Given the description of an element on the screen output the (x, y) to click on. 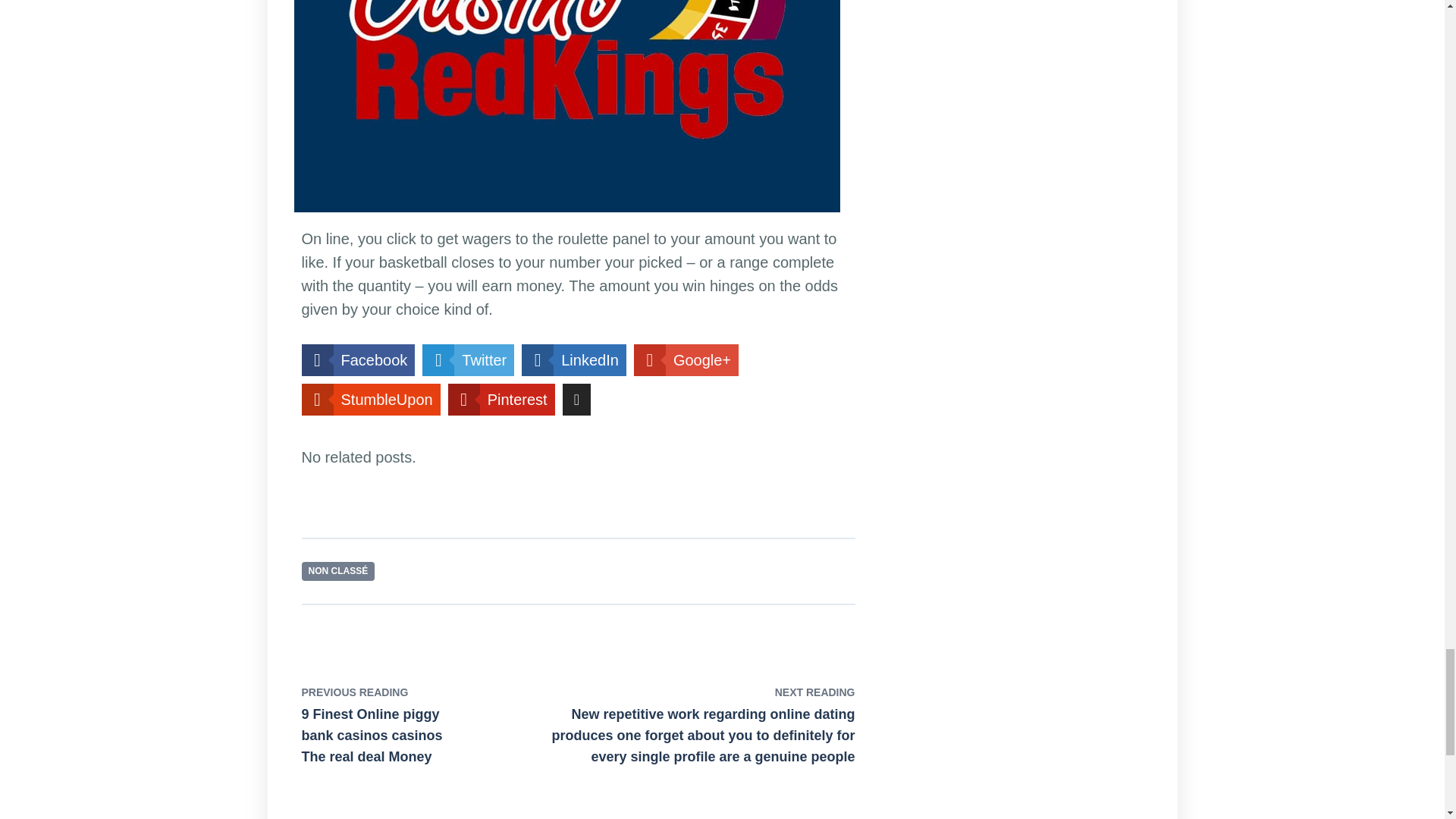
Twitter (467, 359)
CasinoRedKings-Logo CasinoRedKings-Logo (567, 113)
LinkedIn (573, 359)
Pinterest (501, 399)
StumbleUpon (371, 399)
Facebook (357, 359)
